Given the description of an element on the screen output the (x, y) to click on. 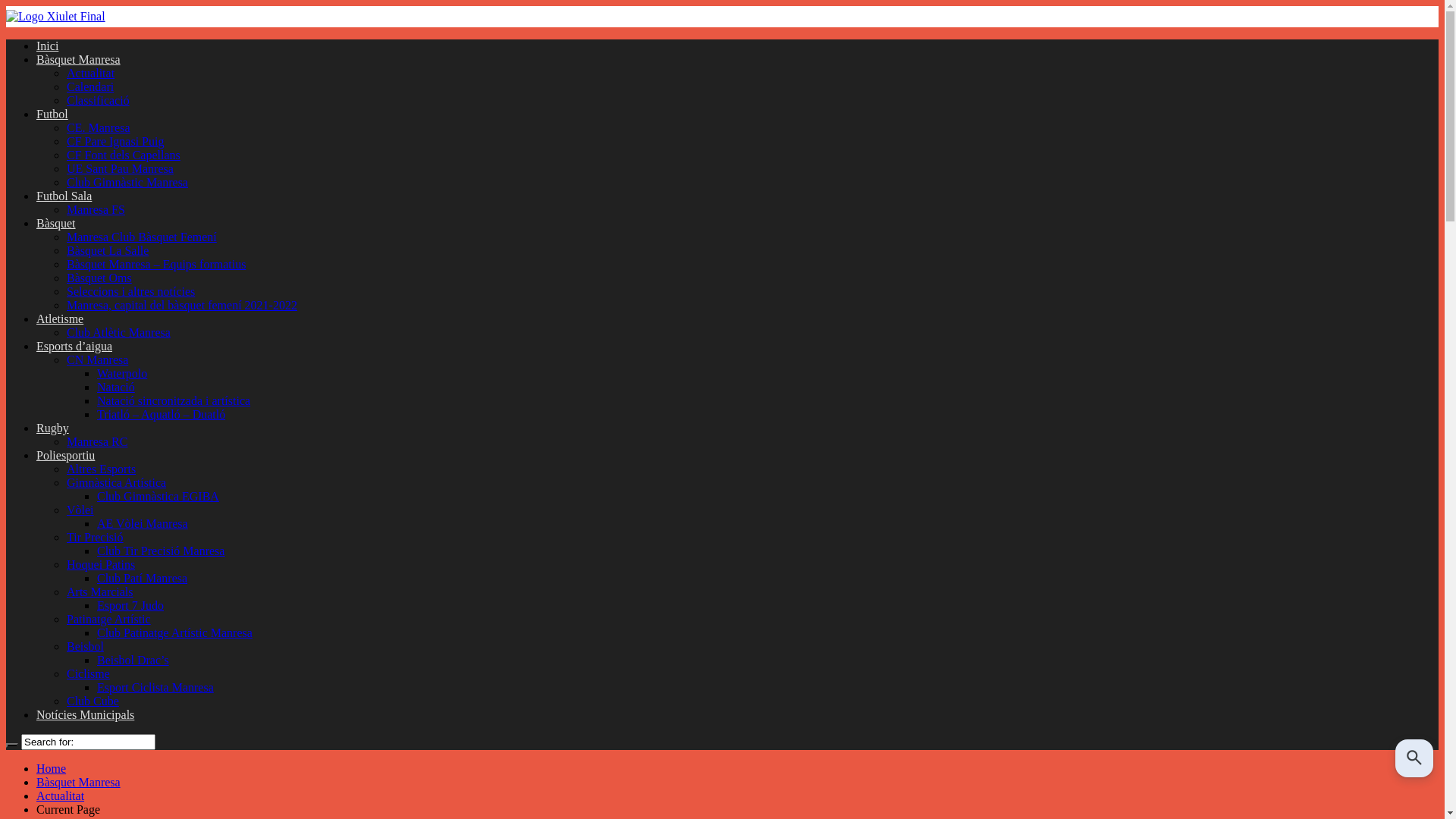
Manresa RC Element type: text (96, 441)
Arts Marcials Element type: text (99, 591)
Rugby Element type: text (52, 427)
Manresa FS Element type: text (95, 209)
Esport 7 Judo Element type: text (130, 605)
Poliesportiu Element type: text (65, 454)
UE Sant Pau Manresa Element type: text (119, 168)
Futbol Sala Element type: text (63, 195)
Altres Esports Element type: text (100, 468)
Esport Ciclista Manresa Element type: text (155, 686)
Club Cube Element type: text (92, 700)
Home Element type: text (50, 768)
Waterpolo Element type: text (122, 373)
Calendari Element type: text (89, 86)
Actualitat Element type: text (60, 795)
Inici Element type: text (47, 45)
Ciclisme Element type: text (87, 673)
Futbol Element type: text (52, 113)
Actualitat Element type: text (90, 72)
CF Pare Ignasi Puig Element type: text (114, 140)
Beisbol Element type: text (84, 646)
CE. Manresa Element type: text (98, 127)
CN Manresa Element type: text (97, 359)
Hoquei Patins Element type: text (100, 564)
Atletisme Element type: text (59, 318)
CF Font dels Capellans Element type: text (123, 154)
